Given the description of an element on the screen output the (x, y) to click on. 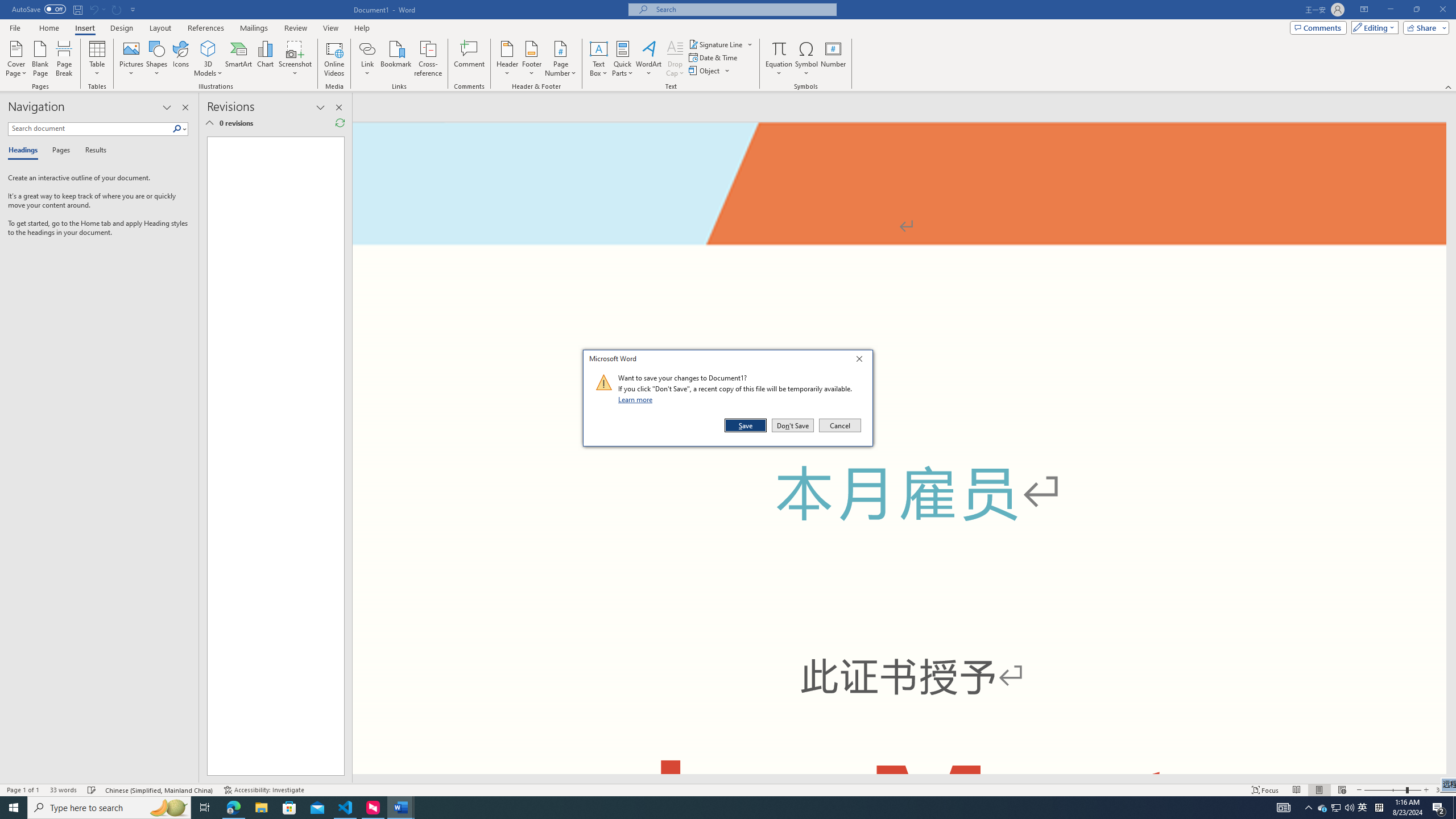
Text Box (598, 58)
Action Center, 2 new notifications (1439, 807)
Can't Undo (92, 9)
WordArt (648, 58)
User Promoted Notification Area (1336, 807)
Tray Input Indicator - Chinese (Simplified, China) (1378, 807)
Blank Page (40, 58)
Cross-reference... (428, 58)
AutomationID: 4105 (1362, 807)
Page Break (1283, 807)
